Given the description of an element on the screen output the (x, y) to click on. 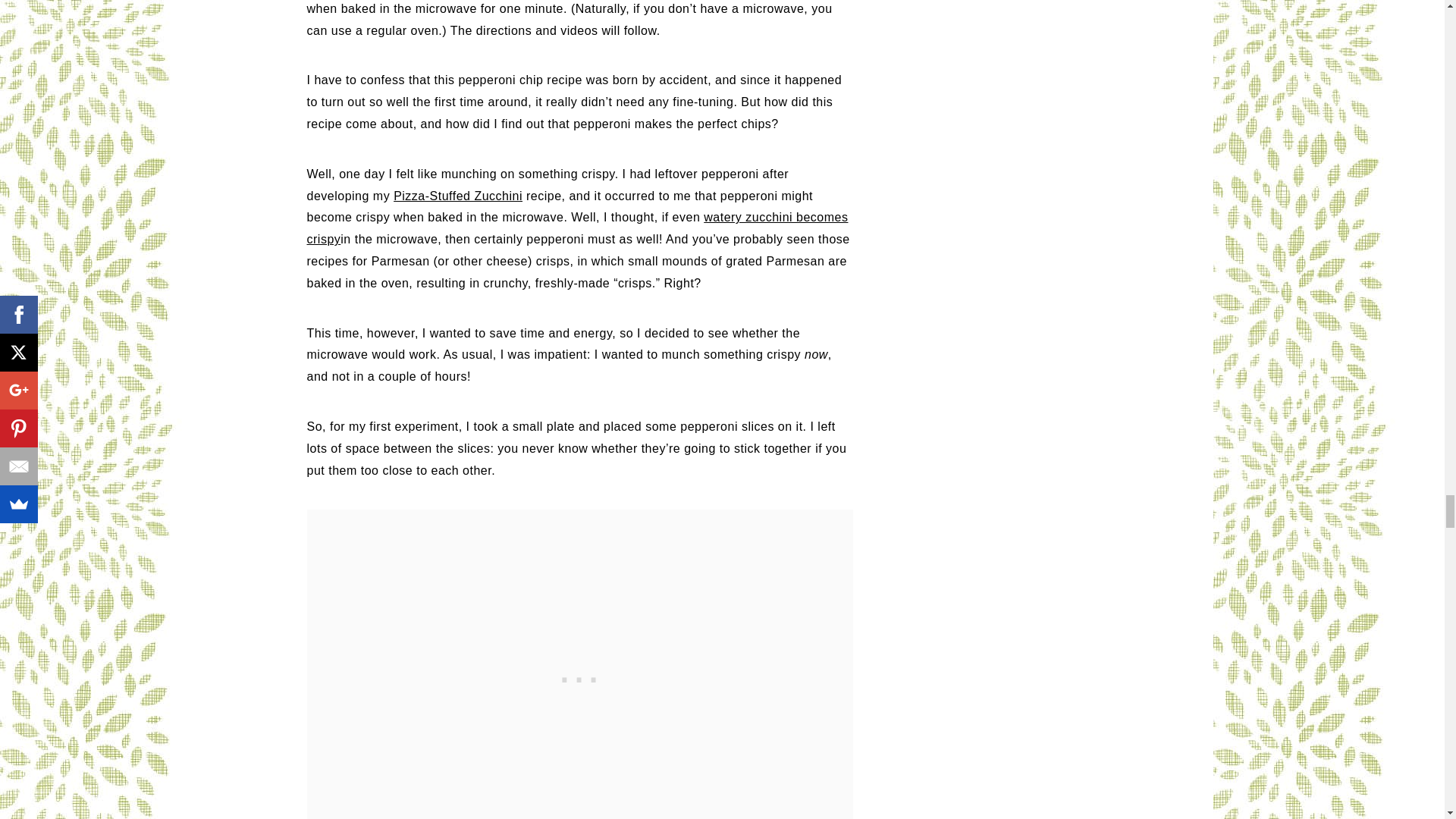
Pizza-Stuffed Zucchini (457, 195)
